Given the description of an element on the screen output the (x, y) to click on. 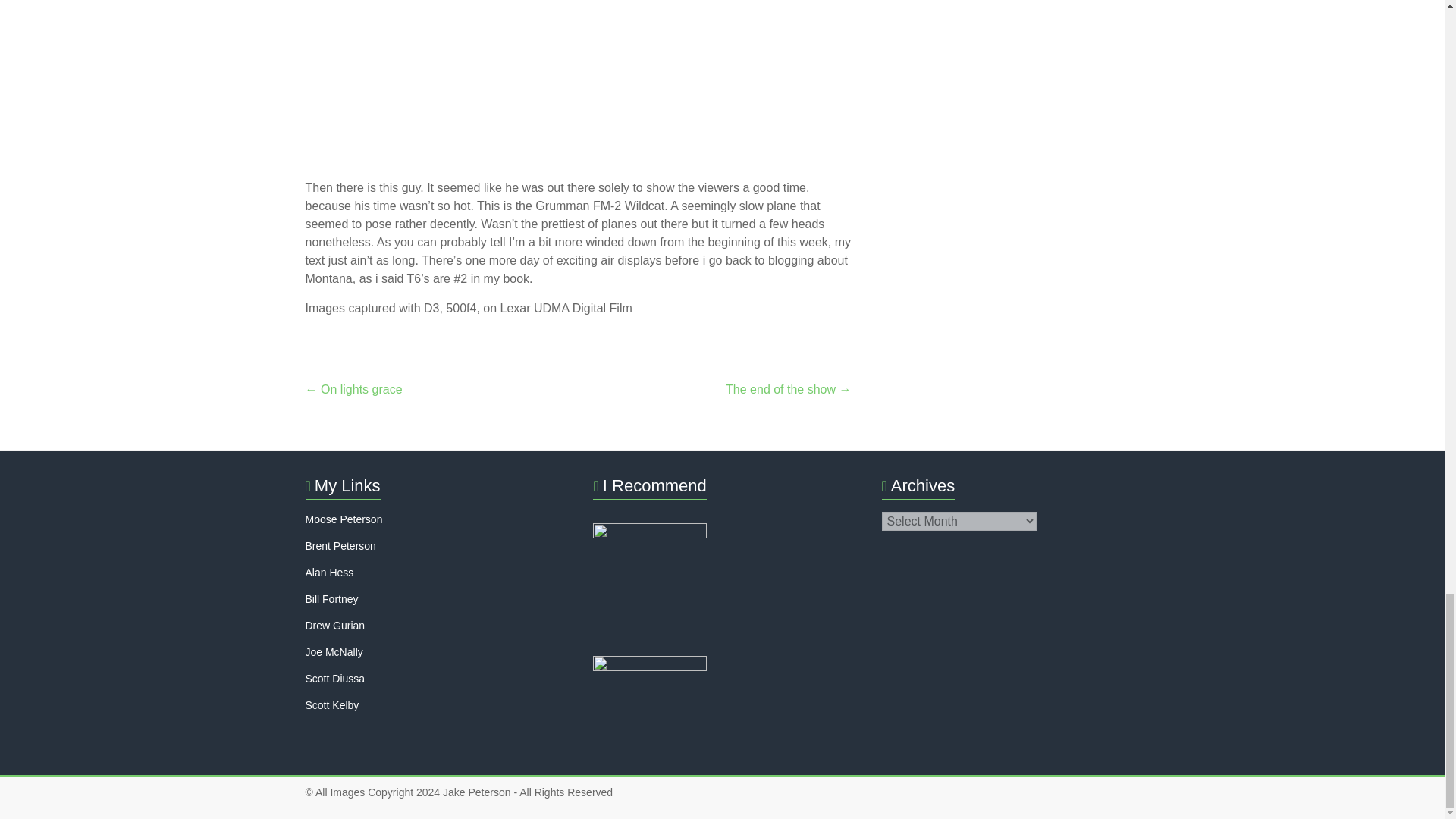
Brent Peterson (339, 545)
Alan Hess (328, 572)
Bill Fortney (331, 598)
Moose Peterson (342, 519)
